Given the description of an element on the screen output the (x, y) to click on. 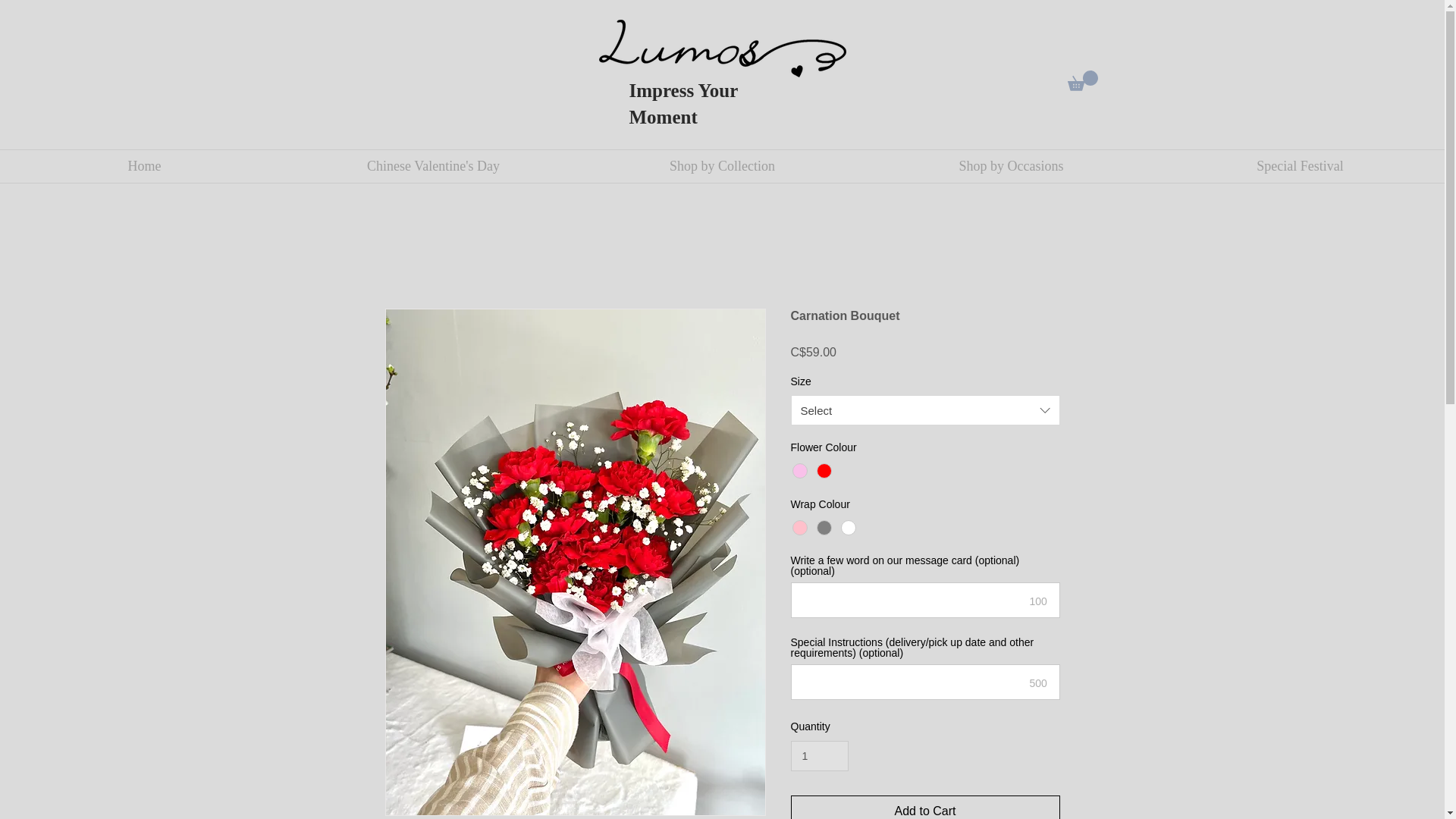
Shop by Collection (722, 165)
Add to Cart (924, 807)
Chinese Valentine's Day (433, 165)
1 (818, 756)
Shop by Occasions (1011, 165)
Impress Your Moment (683, 103)
Home (144, 165)
Select (924, 409)
